Given the description of an element on the screen output the (x, y) to click on. 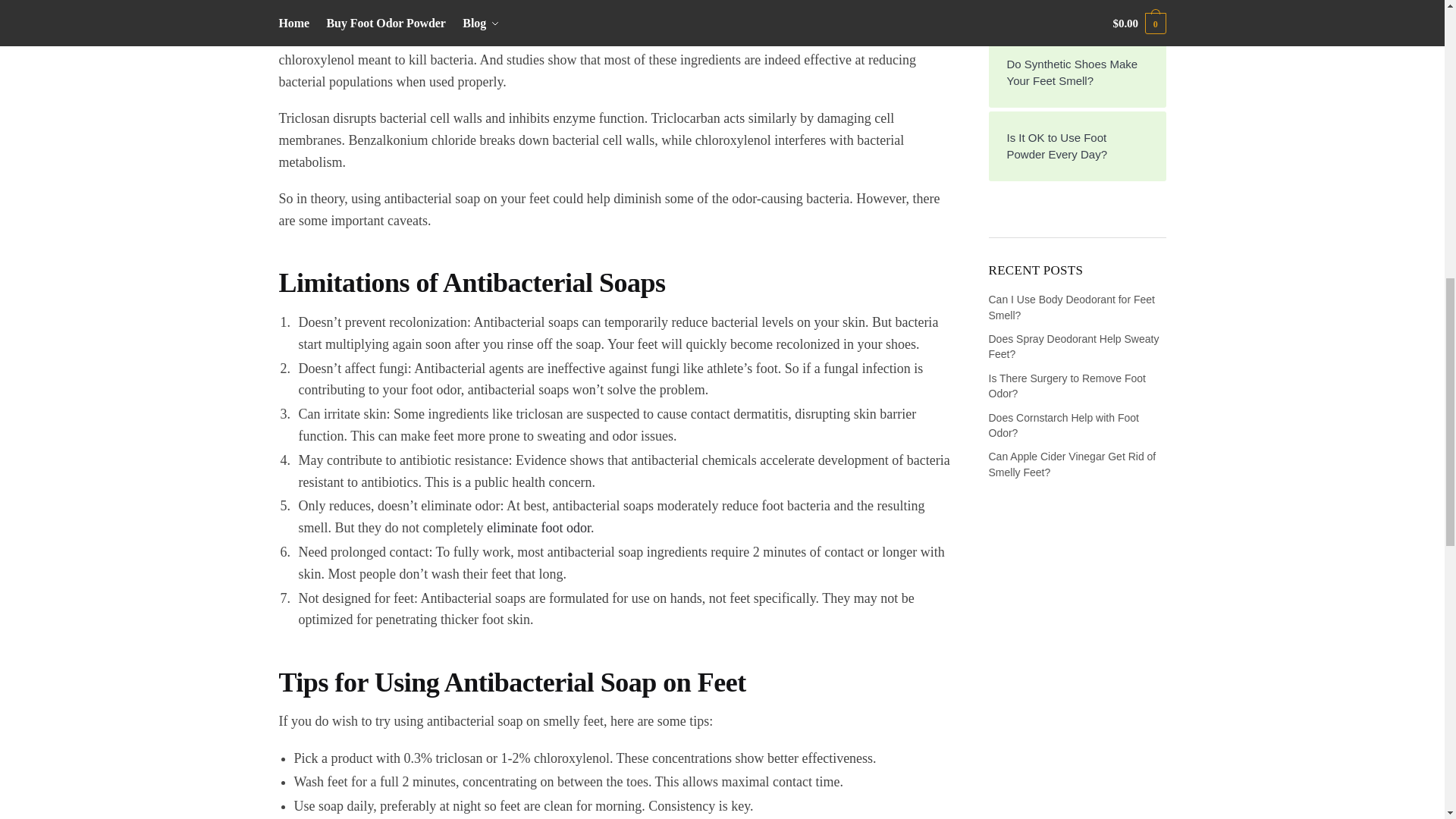
Do Synthetic Shoes Make Your Feet Smell? (1077, 72)
Why Synthetic Socks Make Your Feet Stink? (1077, 7)
Is It OK to Use Foot Powder Every Day? (1077, 145)
eliminate foot odor (538, 527)
